Given the description of an element on the screen output the (x, y) to click on. 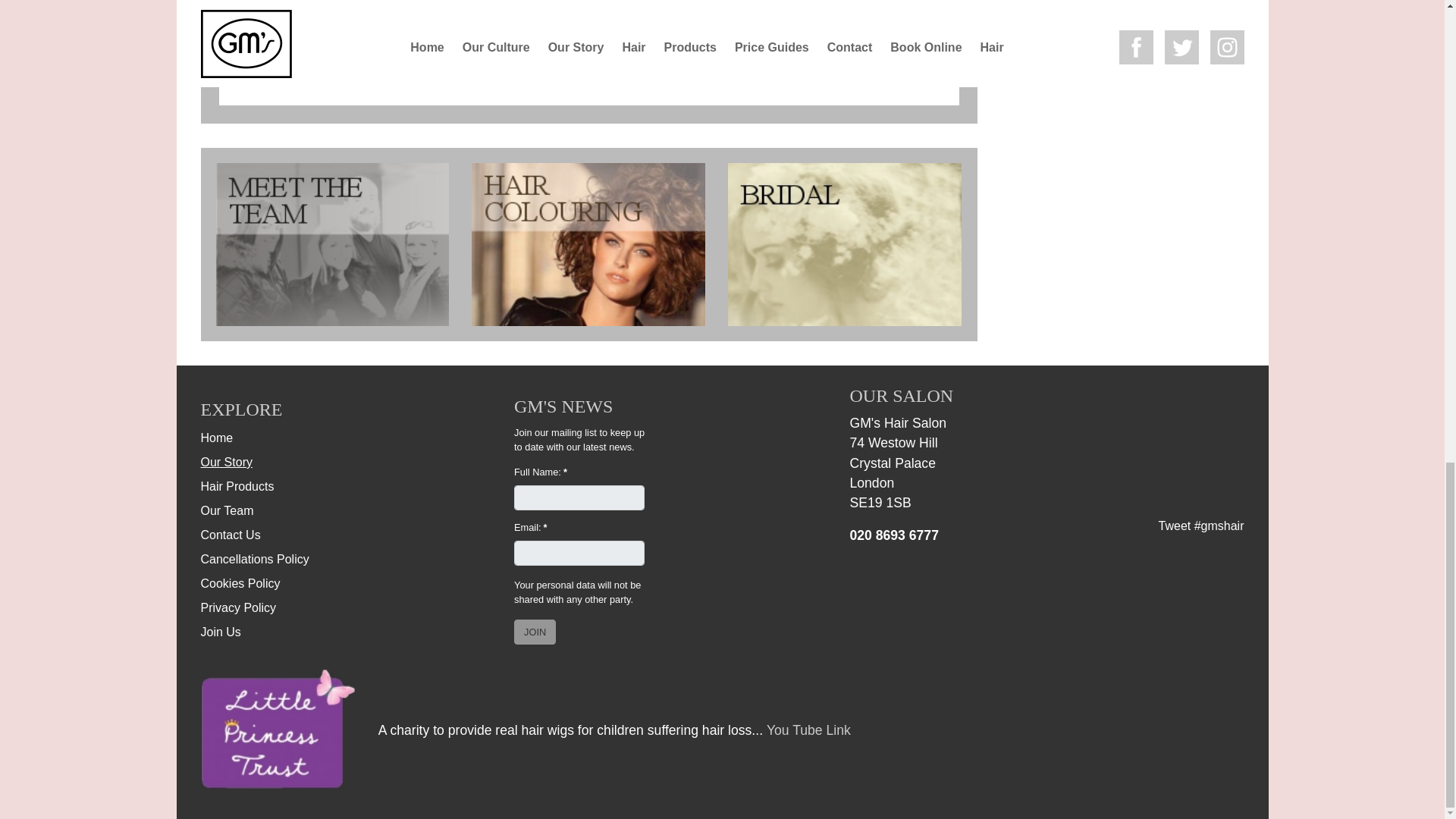
Our Story (225, 461)
Cookies Policy (239, 583)
Contact Us (230, 534)
Cancellations Policy (254, 558)
Hair Products (236, 486)
Our Team (226, 510)
Home (216, 437)
